Given the description of an element on the screen output the (x, y) to click on. 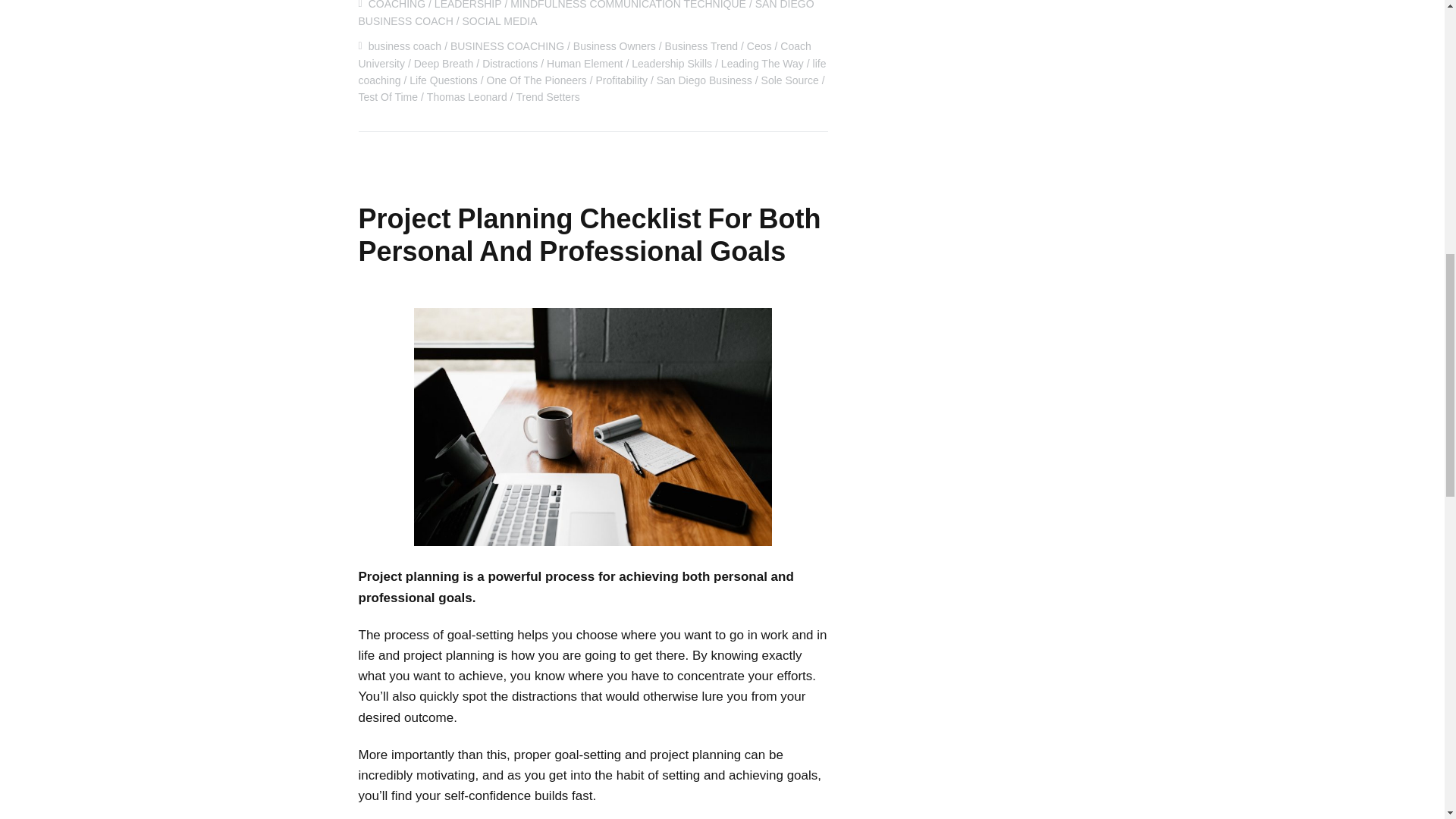
Distractions (509, 63)
Business Owners (614, 46)
San Diego Business (704, 80)
SAN DIEGO BUSINESS COACH (585, 13)
Profitability (620, 80)
One Of The Pioneers (536, 80)
Leadership Skills (671, 63)
Human Element (585, 63)
Business Trend (701, 46)
Leading The Way (761, 63)
MINDFULNESS COMMUNICATION TECHNIQUE (628, 4)
business coach (405, 46)
life coaching (591, 71)
SOCIAL MEDIA (500, 21)
BUSINESS COACHING (506, 46)
